Given the description of an element on the screen output the (x, y) to click on. 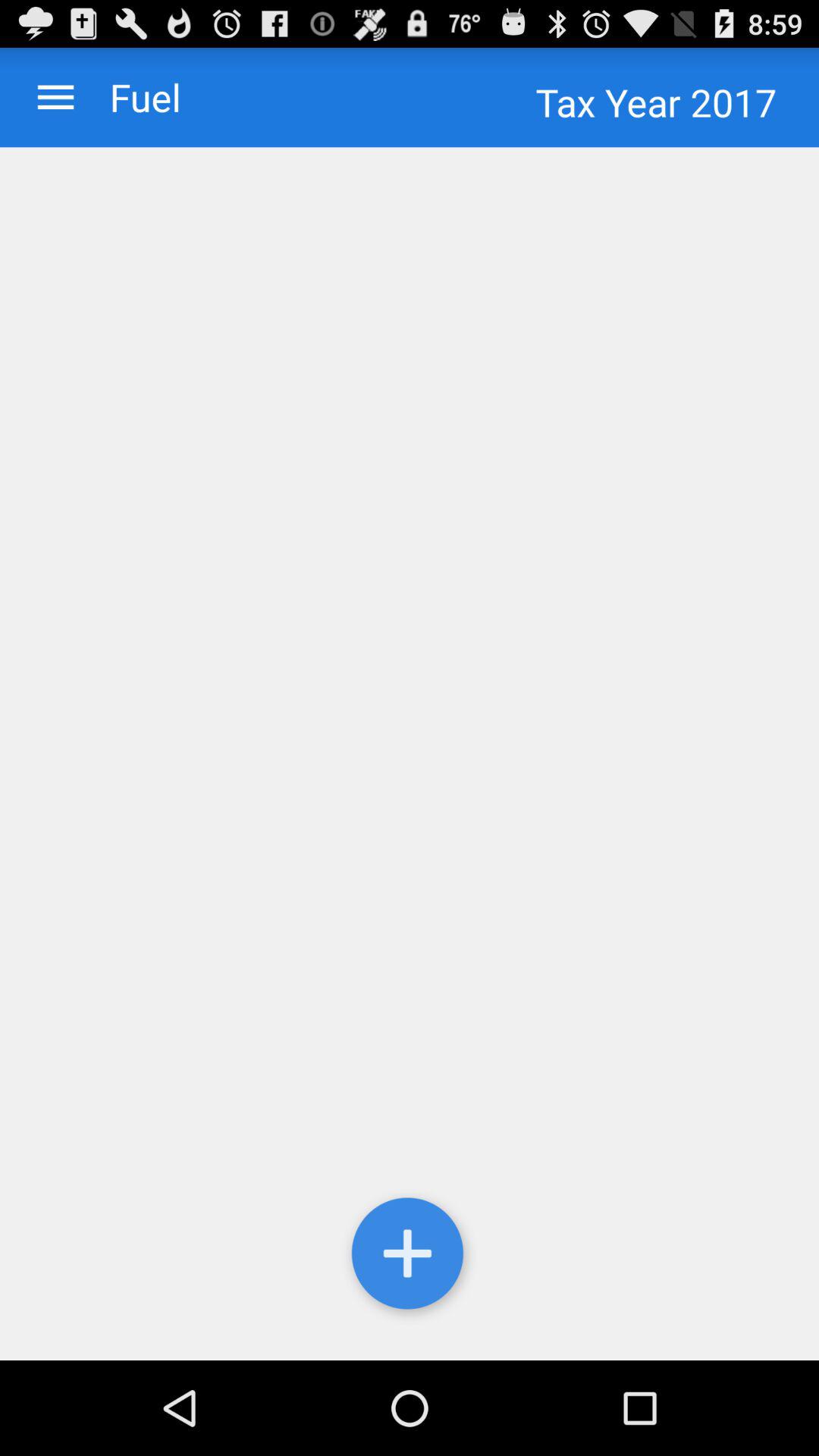
launch the item at the bottom (409, 1256)
